Given the description of an element on the screen output the (x, y) to click on. 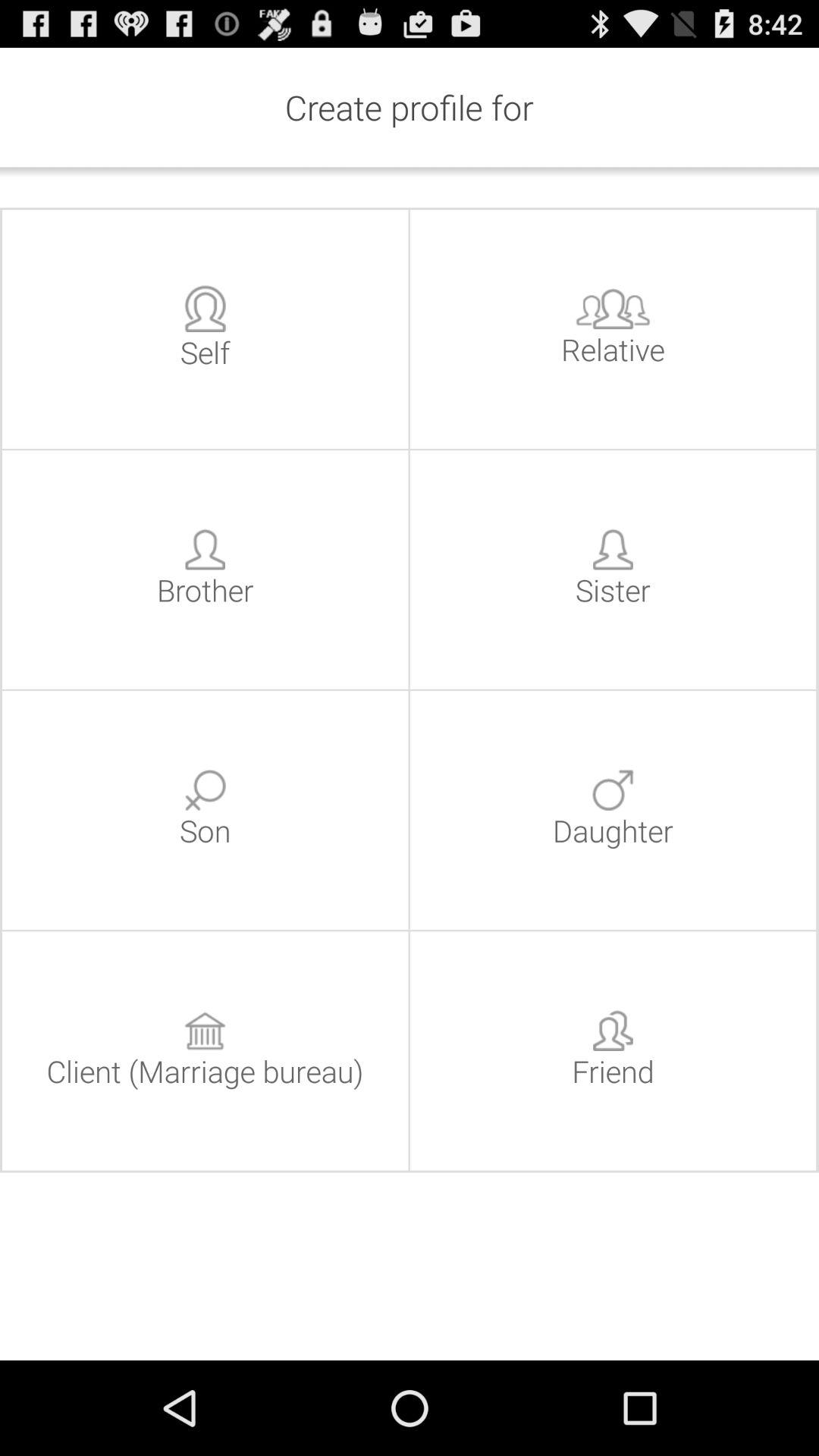
go to first row second icon (613, 308)
